Given the description of an element on the screen output the (x, y) to click on. 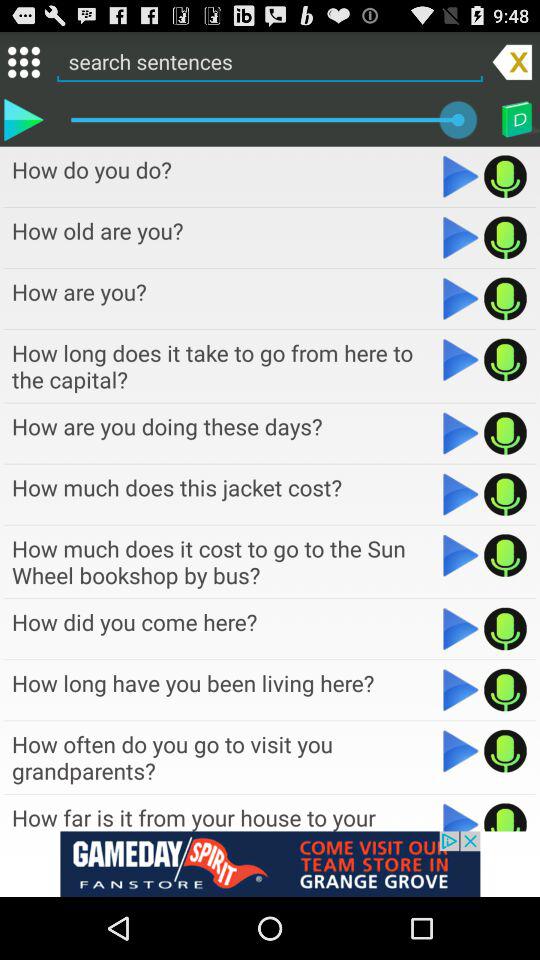
go to play (460, 359)
